Given the description of an element on the screen output the (x, y) to click on. 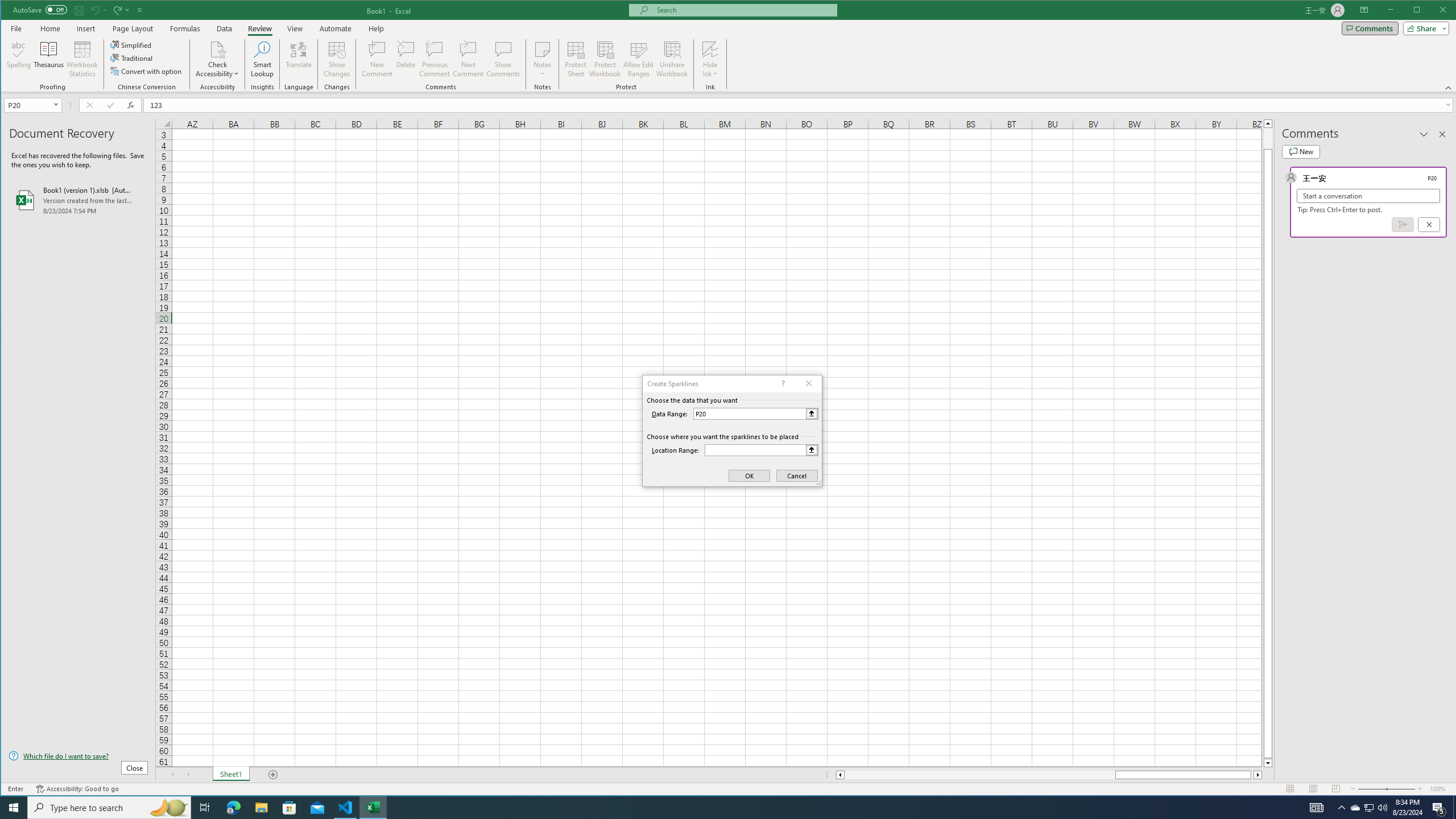
Notes (541, 59)
AutoSave (39, 9)
Sheet1 (230, 774)
Hide Ink (710, 48)
Close (1445, 11)
Share (1423, 27)
Which file do I want to save? (78, 755)
Allow Edit Ranges (638, 59)
Zoom Out (1372, 788)
Zoom (1386, 788)
Page up (1267, 138)
Ribbon Display Options (1364, 9)
Insert (85, 28)
Post comment (Ctrl + Enter) (1402, 224)
Show Comments (502, 59)
